Given the description of an element on the screen output the (x, y) to click on. 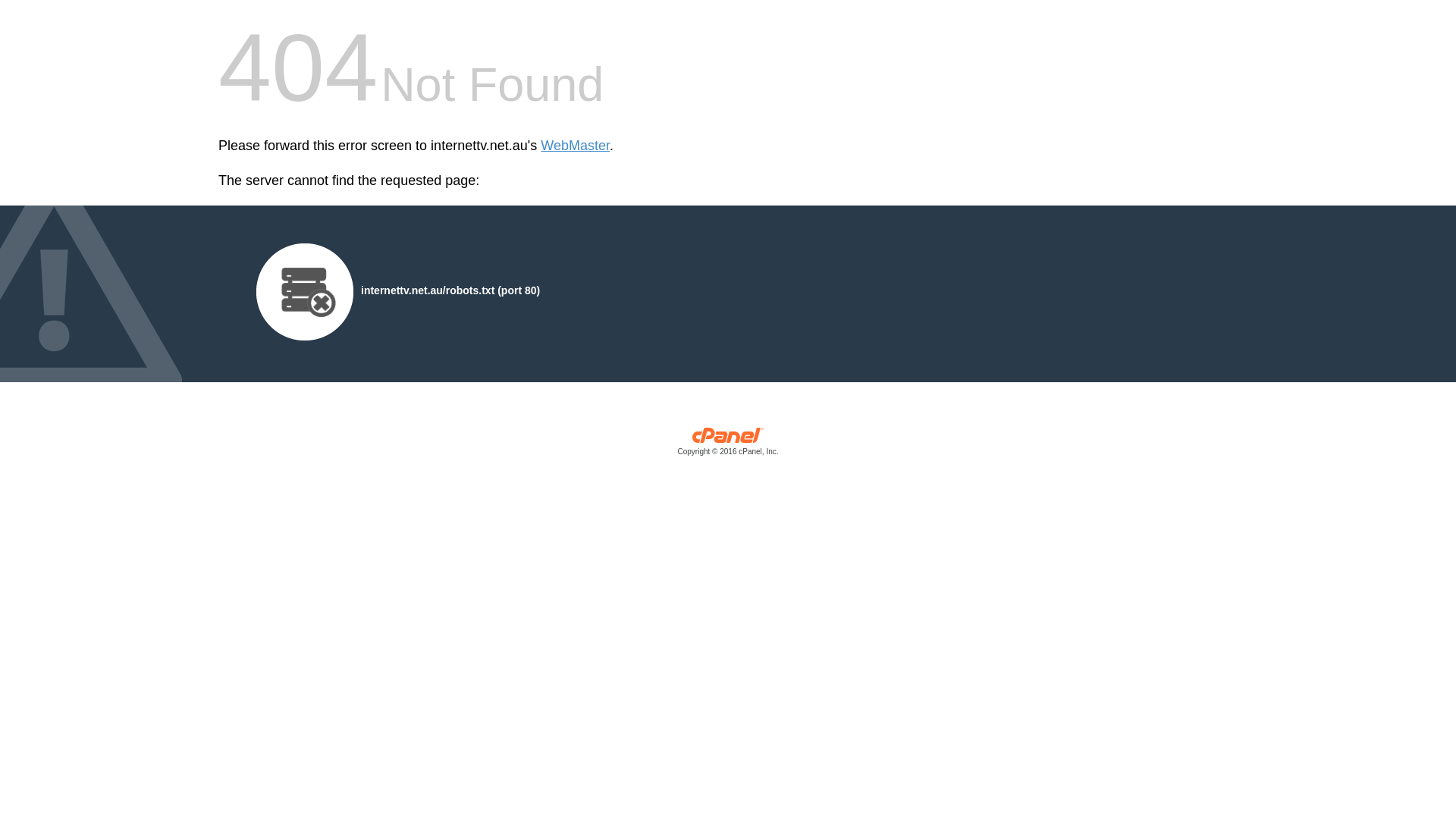
WebMaster Element type: text (574, 145)
